Given the description of an element on the screen output the (x, y) to click on. 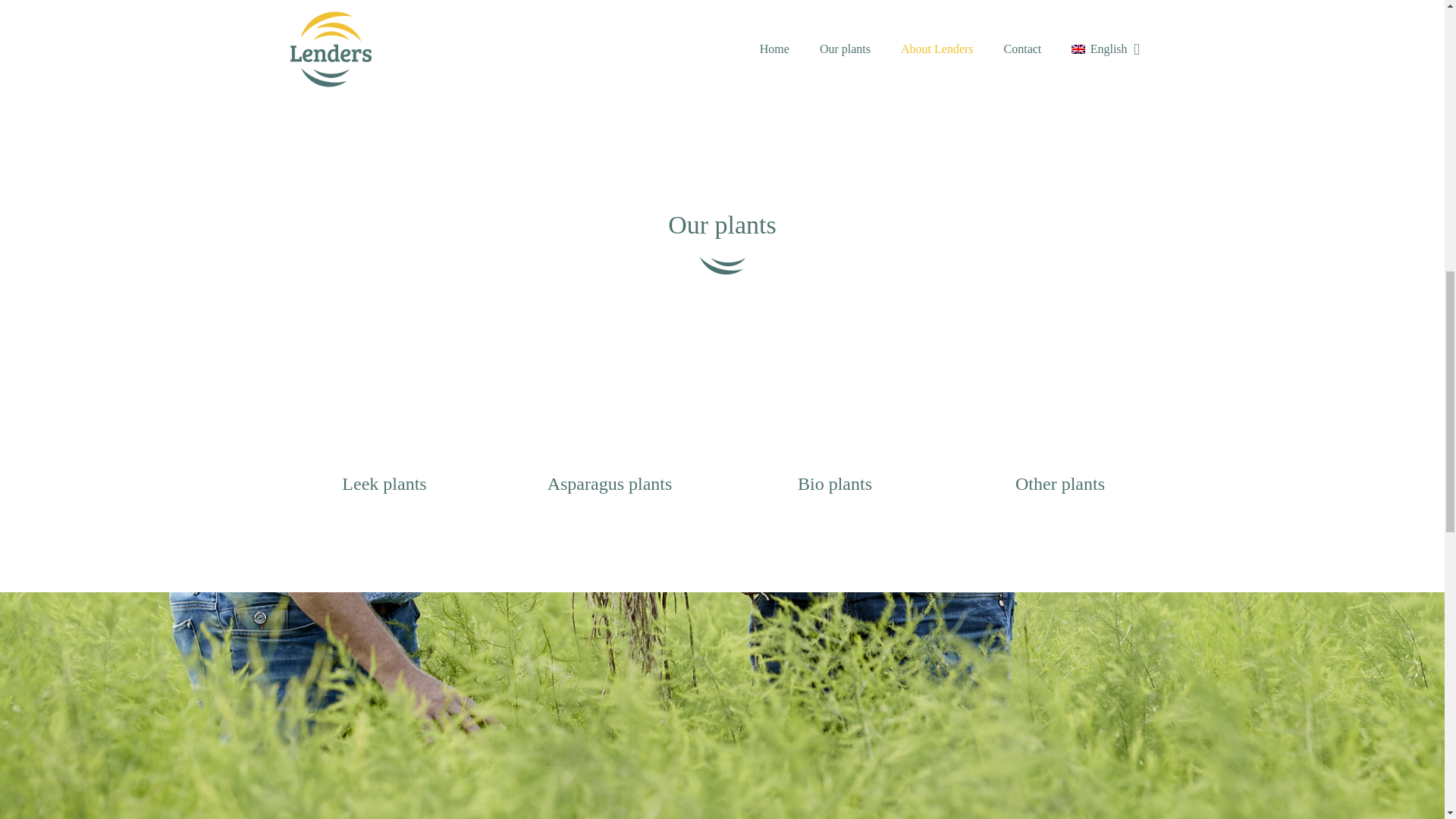
Back to top (1413, 26)
